Given the description of an element on the screen output the (x, y) to click on. 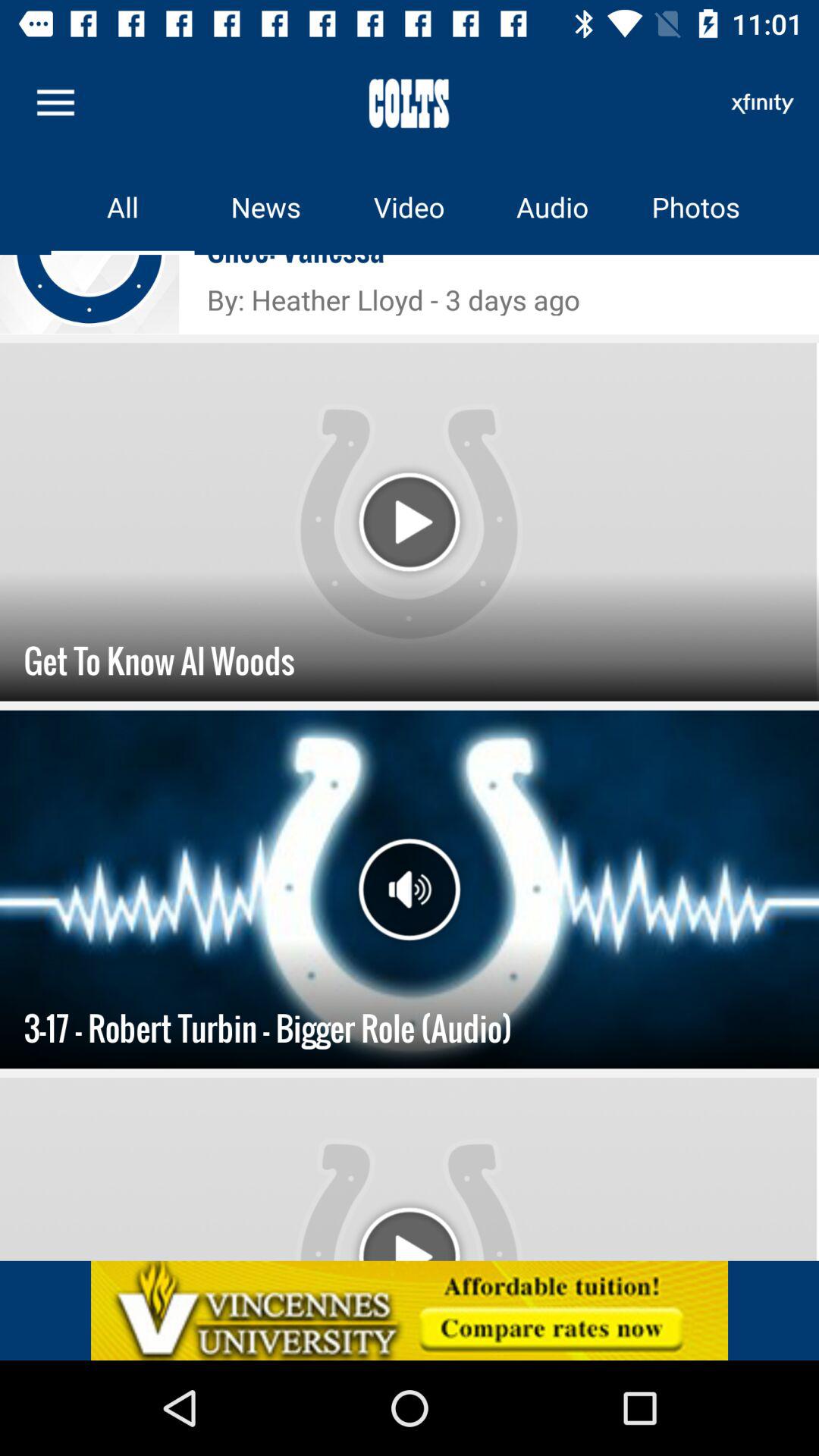
click the text beside the menu icon (409, 103)
go to photos (696, 206)
